Given the description of an element on the screen output the (x, y) to click on. 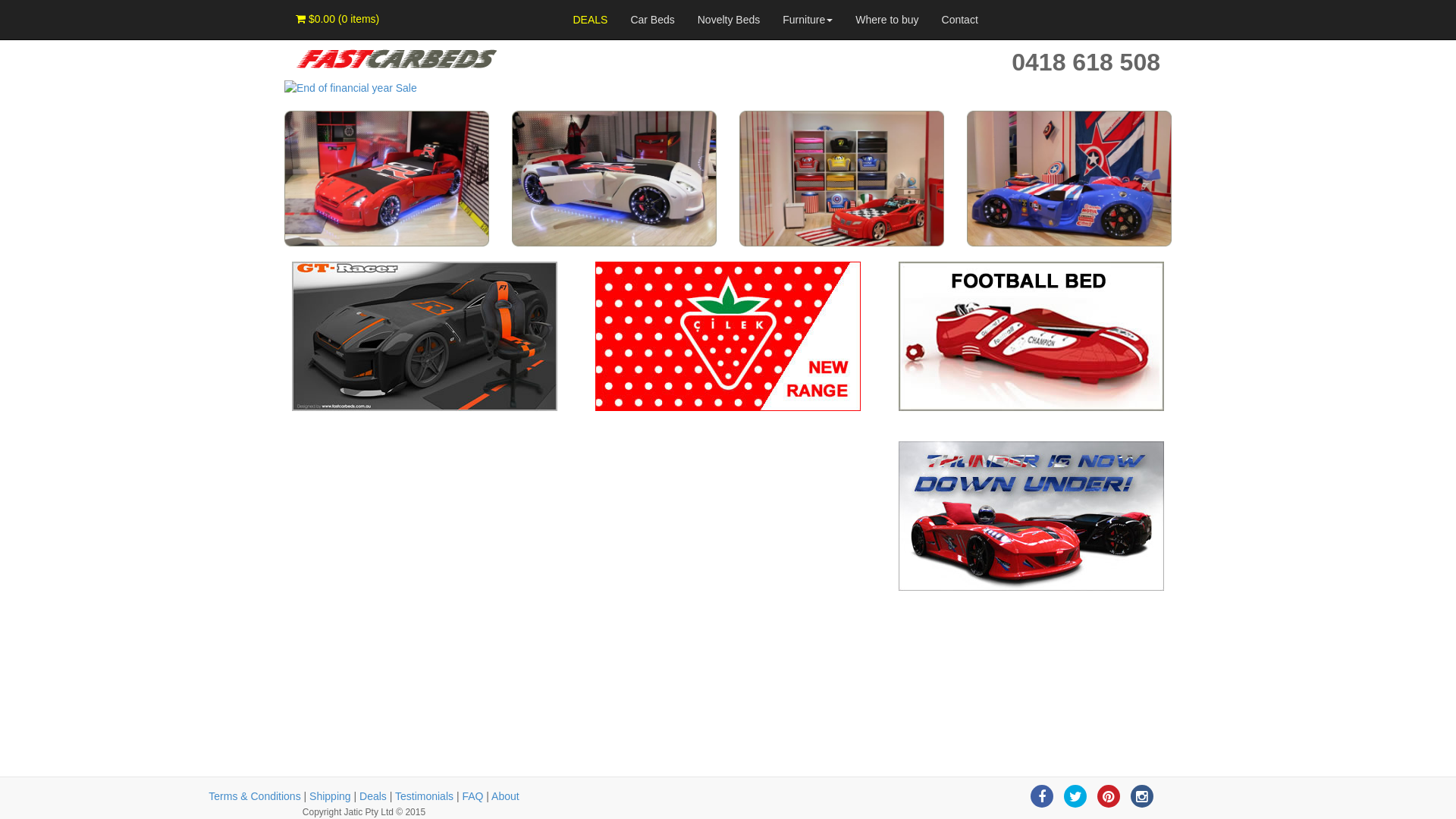
Testimonials Element type: text (424, 796)
Deals Element type: text (372, 796)
Novelty Beds Element type: text (728, 19)
Shipping Element type: text (330, 796)
Facebook Element type: hover (1041, 796)
Furniture Element type: text (807, 19)
Where to buy Element type: text (886, 19)
FAQ Element type: text (472, 796)
  Element type: text (285, 448)
$0.00 (0 items) Element type: text (337, 18)
Pinterest Element type: hover (1108, 796)
Terms & Conditions Element type: text (254, 796)
Car Beds Element type: text (651, 19)
Instagram Element type: hover (1141, 796)
Contact Element type: text (959, 19)
DEALS Element type: text (589, 19)
About Element type: text (505, 796)
Twitter Element type: hover (1074, 796)
